Given the description of an element on the screen output the (x, y) to click on. 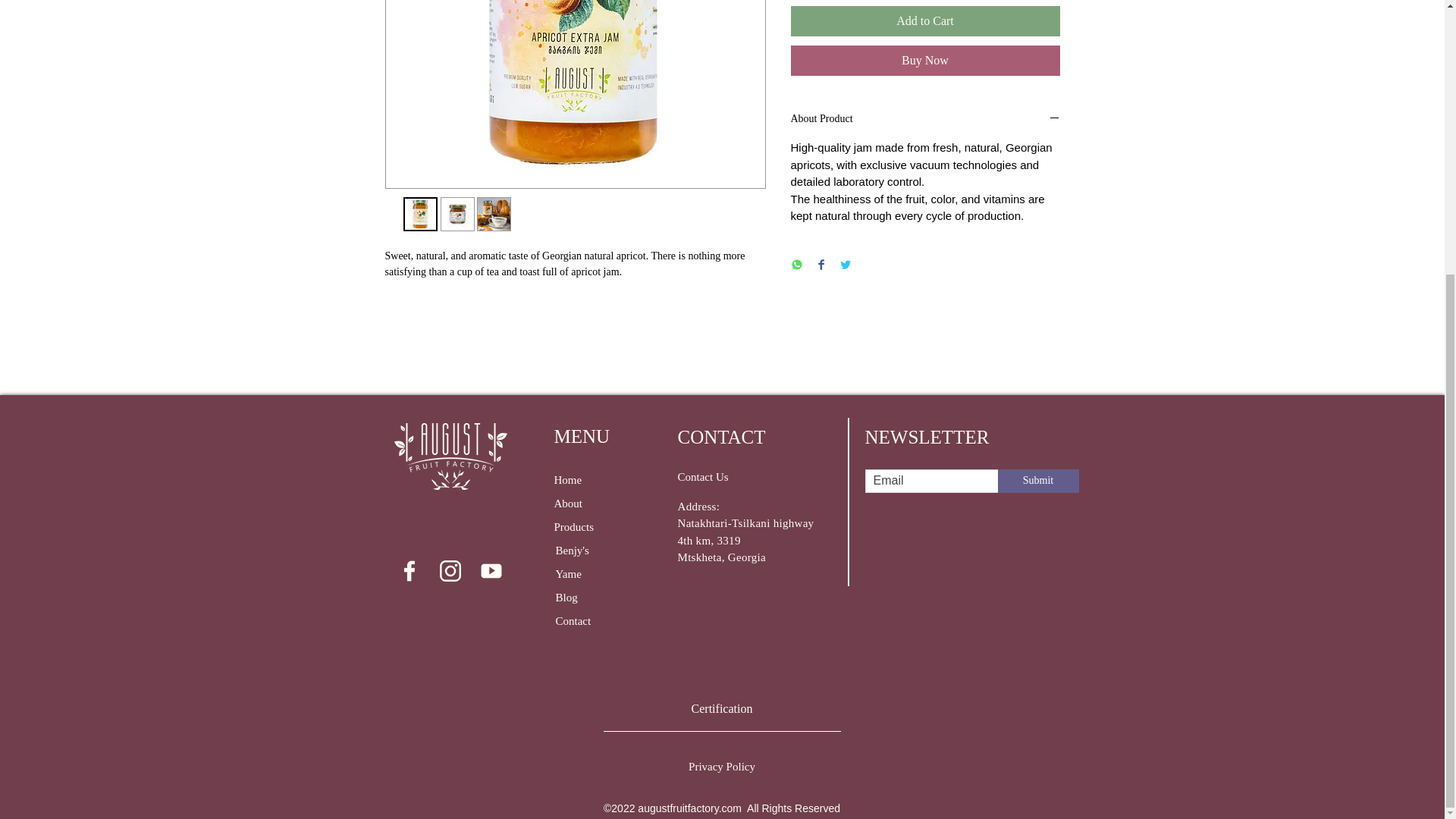
Yame (586, 574)
Privacy Policy (722, 766)
Contact Us (736, 477)
Certification (722, 709)
About (598, 503)
Home (581, 480)
About Product (924, 119)
Blog (582, 597)
Submit (1037, 481)
Add to Cart (924, 20)
